Given the description of an element on the screen output the (x, y) to click on. 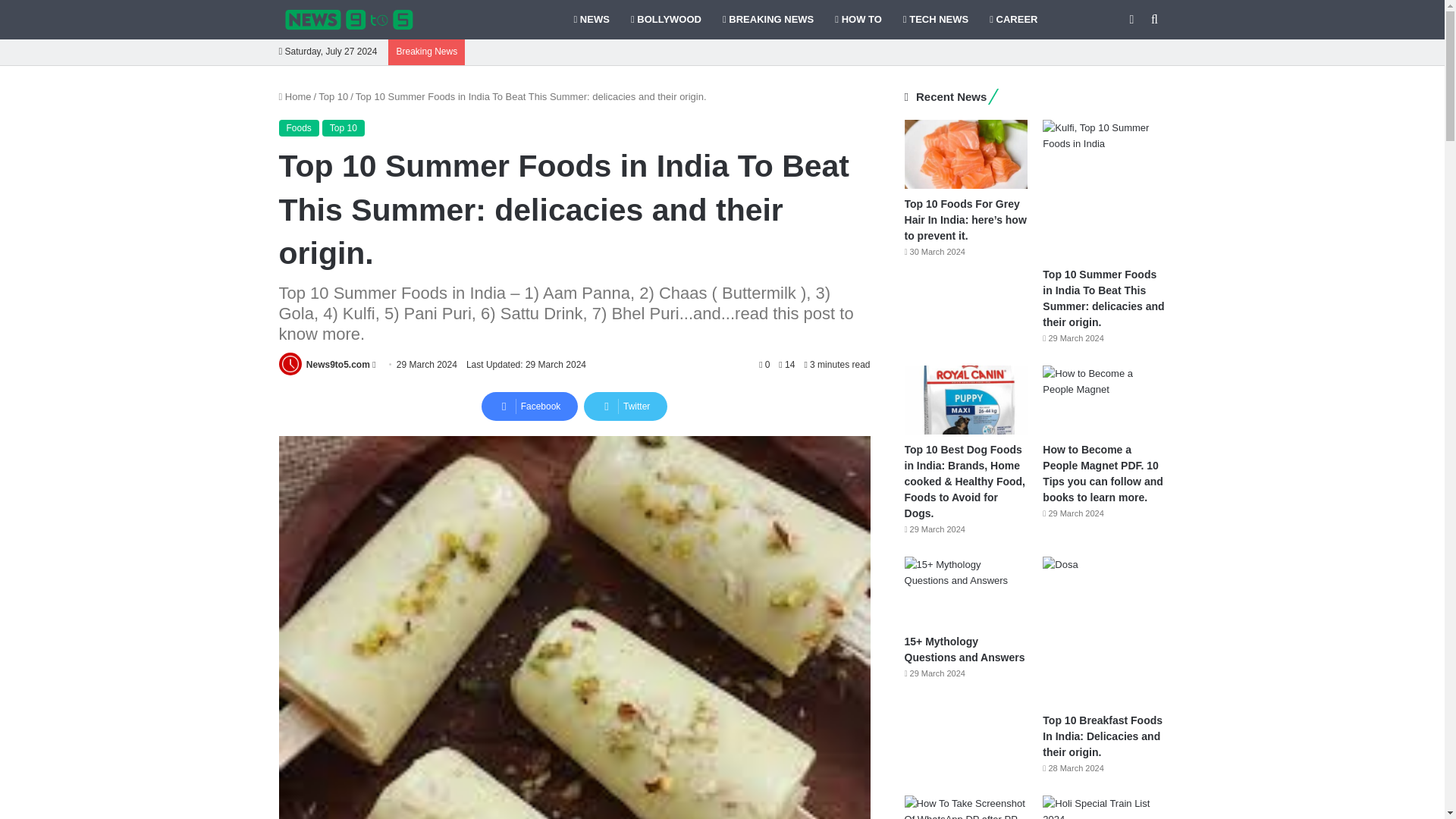
NEWS (591, 19)
CAREER (1013, 19)
Facebook (529, 406)
news9to5.com (349, 19)
News9to5.com (337, 364)
BOLLYWOOD (665, 19)
BREAKING NEWS (767, 19)
HOW TO (858, 19)
News9to5.com (337, 364)
TECH NEWS (935, 19)
Twitter (624, 406)
Top 10 (332, 96)
Twitter (624, 406)
Foods (298, 127)
Top 10 (343, 127)
